Given the description of an element on the screen output the (x, y) to click on. 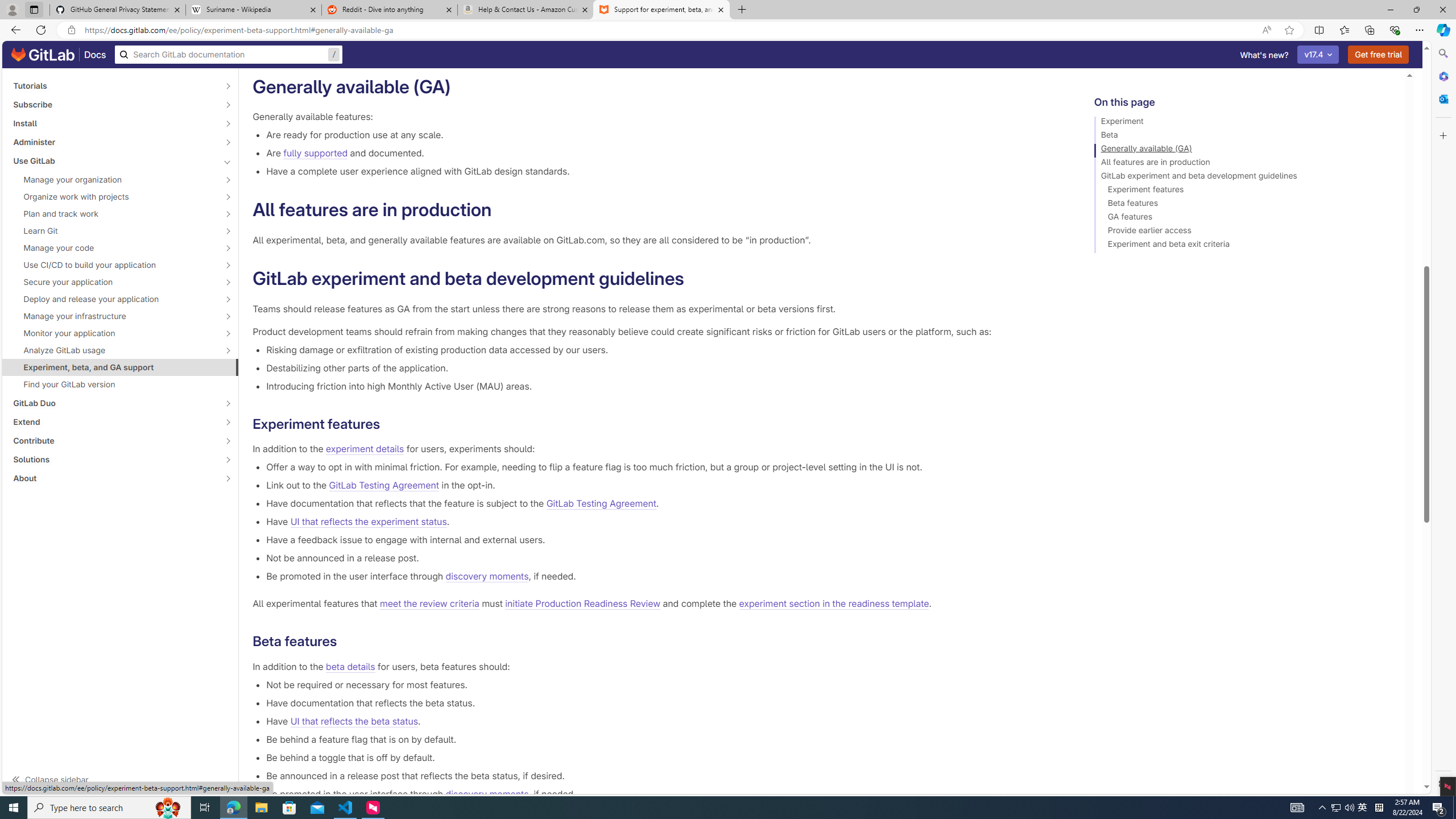
Solutions (113, 459)
Secure your application (113, 281)
Extend (113, 421)
v17.4 (1318, 54)
Install (113, 122)
Experiment (1244, 123)
Generally available (GA) (1244, 150)
Beta (1244, 136)
Link out to the GitLab Testing Agreement in the opt-in. (662, 485)
GitLab experiment and beta development guidelines (1244, 177)
Have a user experience that is complete or near completion. (662, 47)
